Given the description of an element on the screen output the (x, y) to click on. 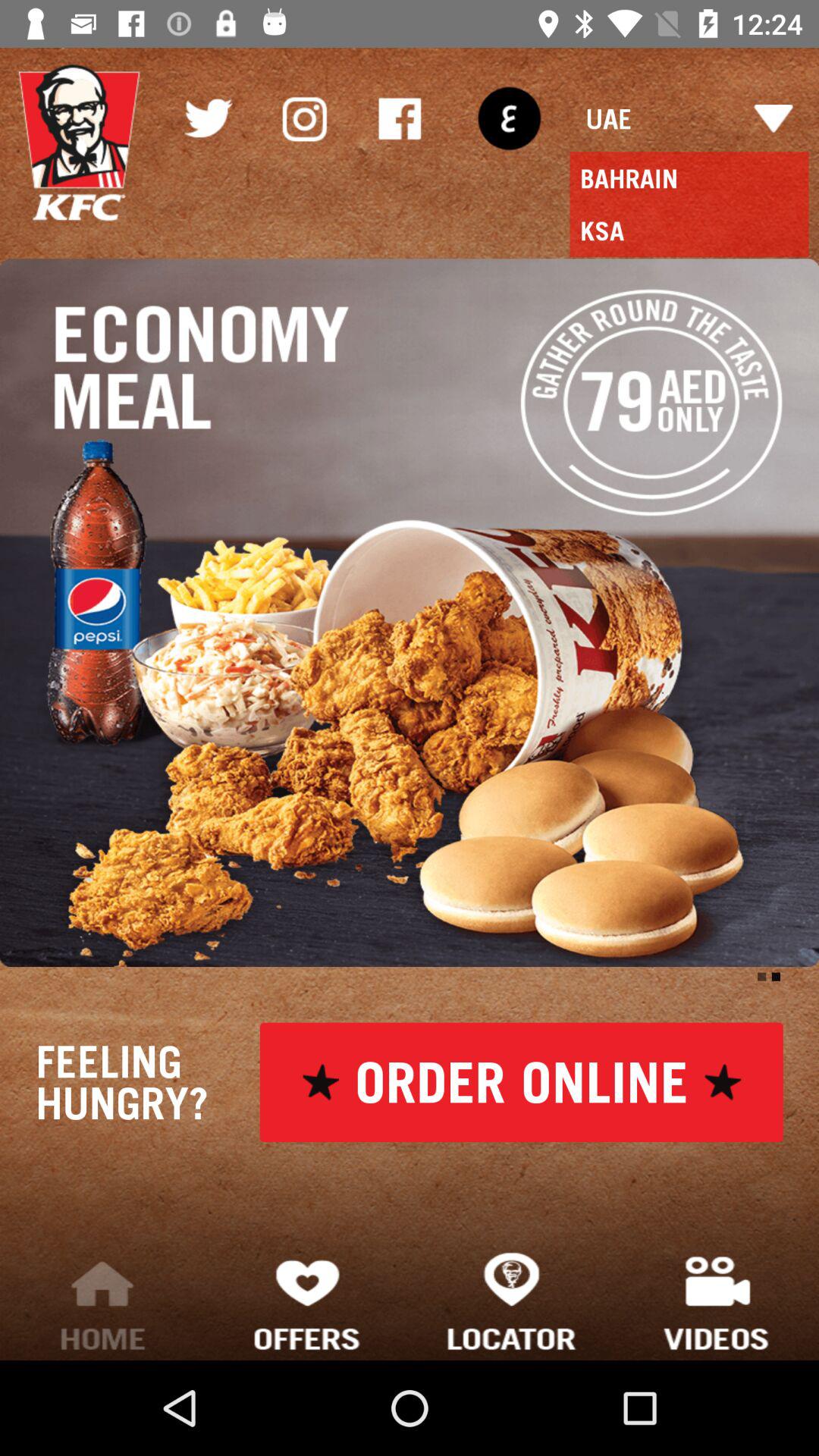
open the item at the center (409, 612)
